Given the description of an element on the screen output the (x, y) to click on. 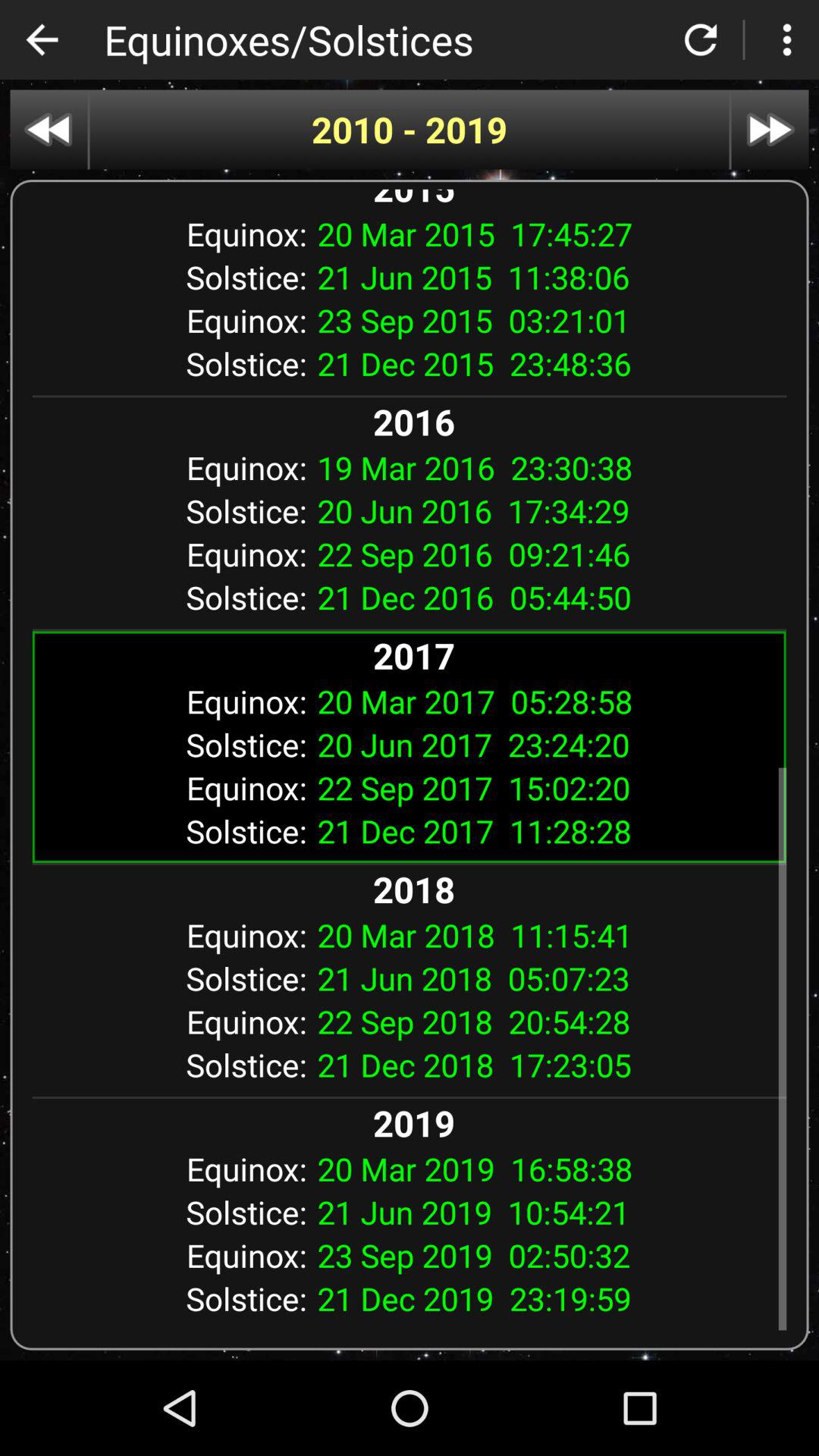
menu (787, 39)
